Given the description of an element on the screen output the (x, y) to click on. 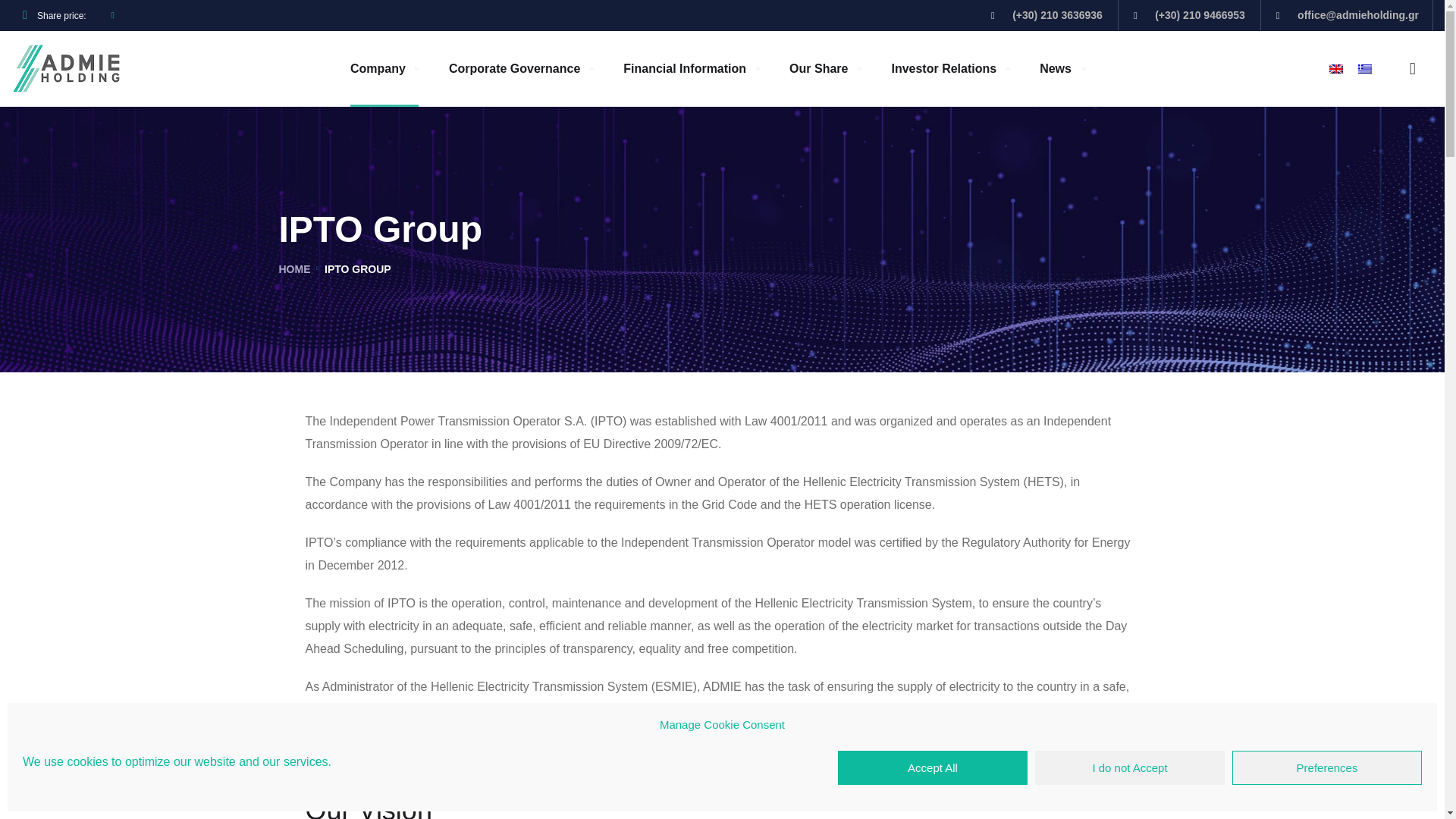
I do not Accept (1129, 767)
Accept All (932, 767)
Company (384, 68)
Preferences (1326, 767)
Financial Information (690, 68)
Corporate Governance (520, 68)
